Given the description of an element on the screen output the (x, y) to click on. 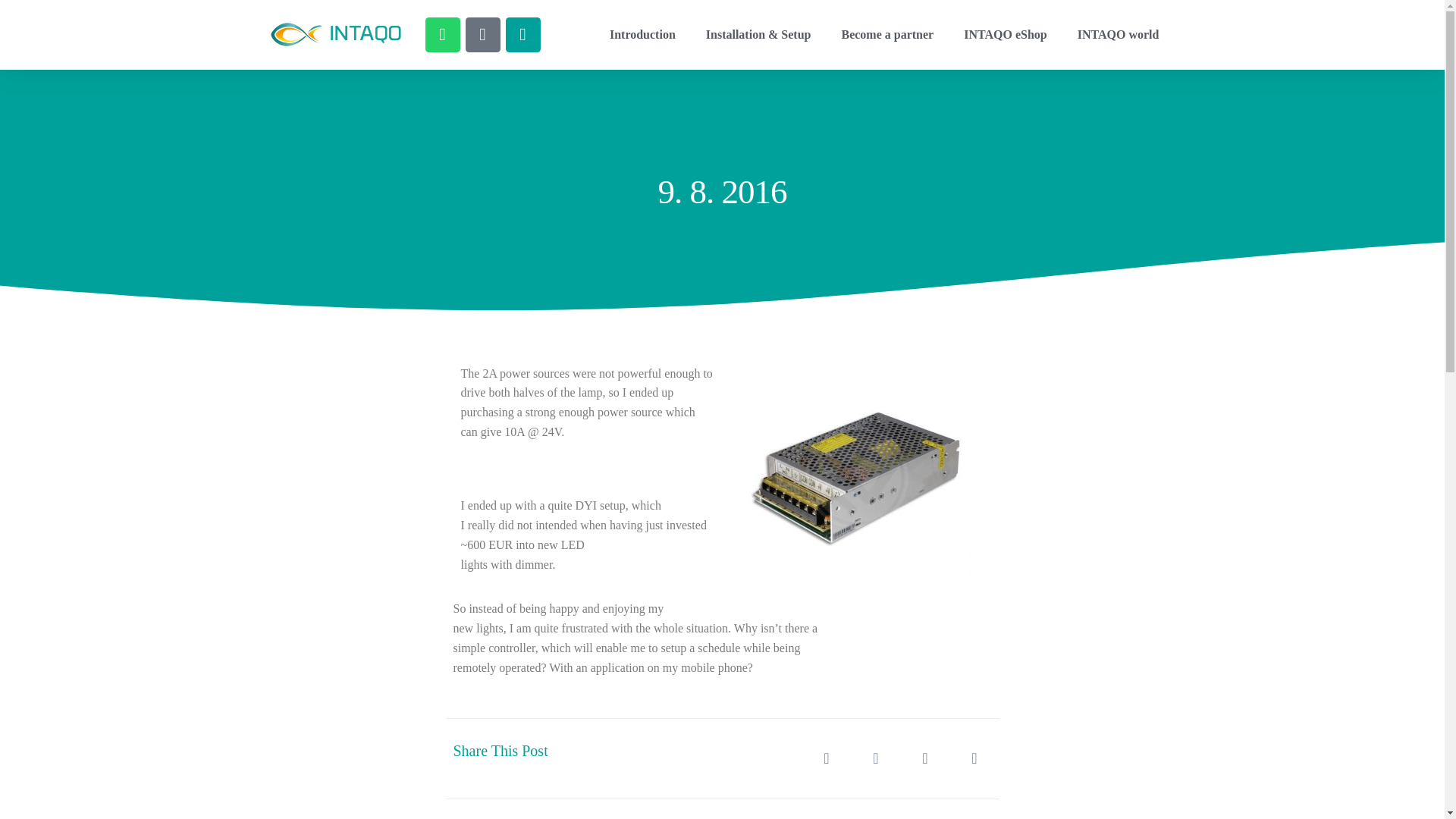
INTAQO world (1118, 34)
Become a partner (887, 34)
Introduction (642, 34)
INTAQO eShop (1005, 34)
